Given the description of an element on the screen output the (x, y) to click on. 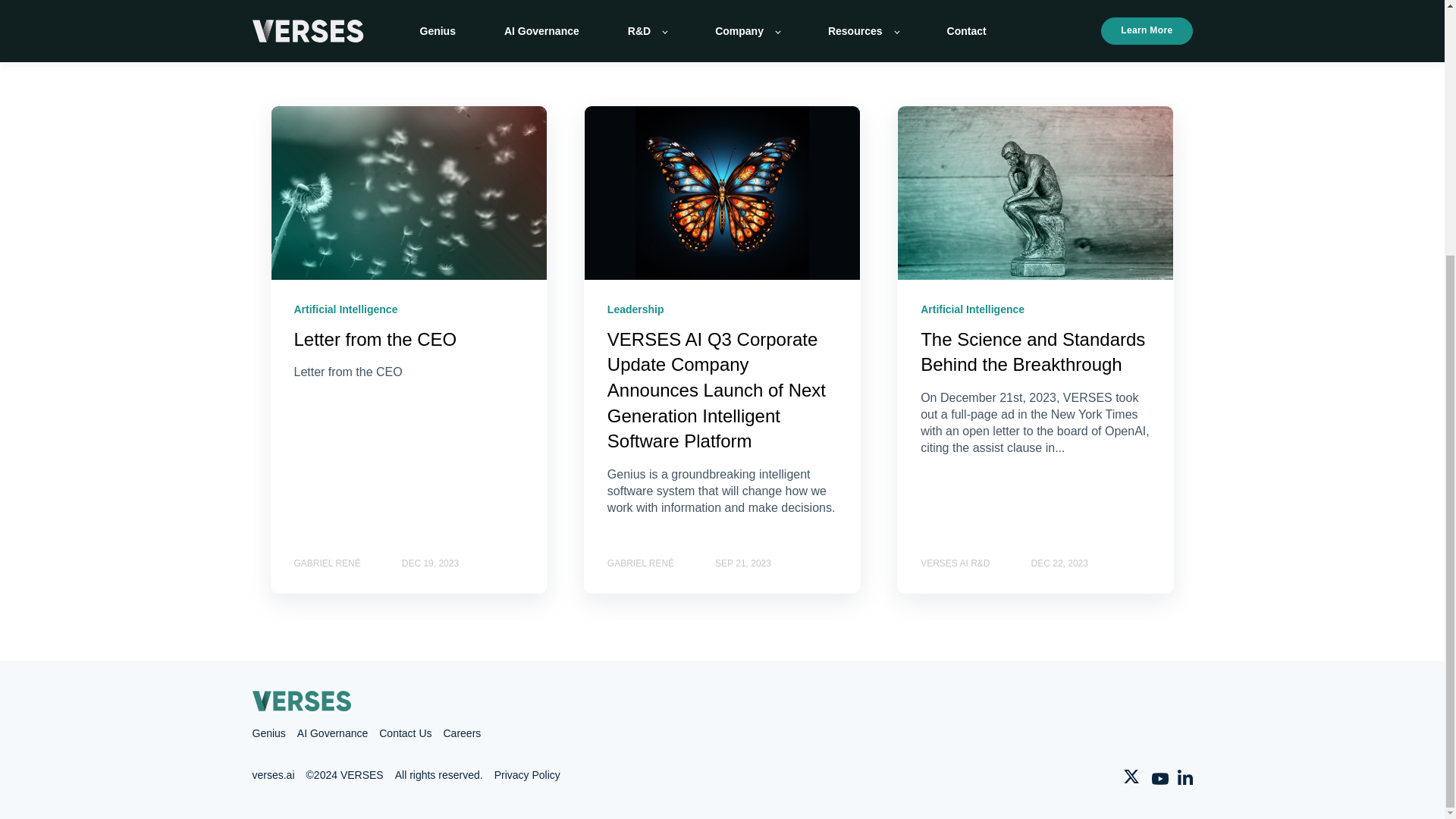
The Science and Standards Behind the Breakthrough (1032, 352)
Submit (761, 120)
Letter from the CEO (375, 339)
